Given the description of an element on the screen output the (x, y) to click on. 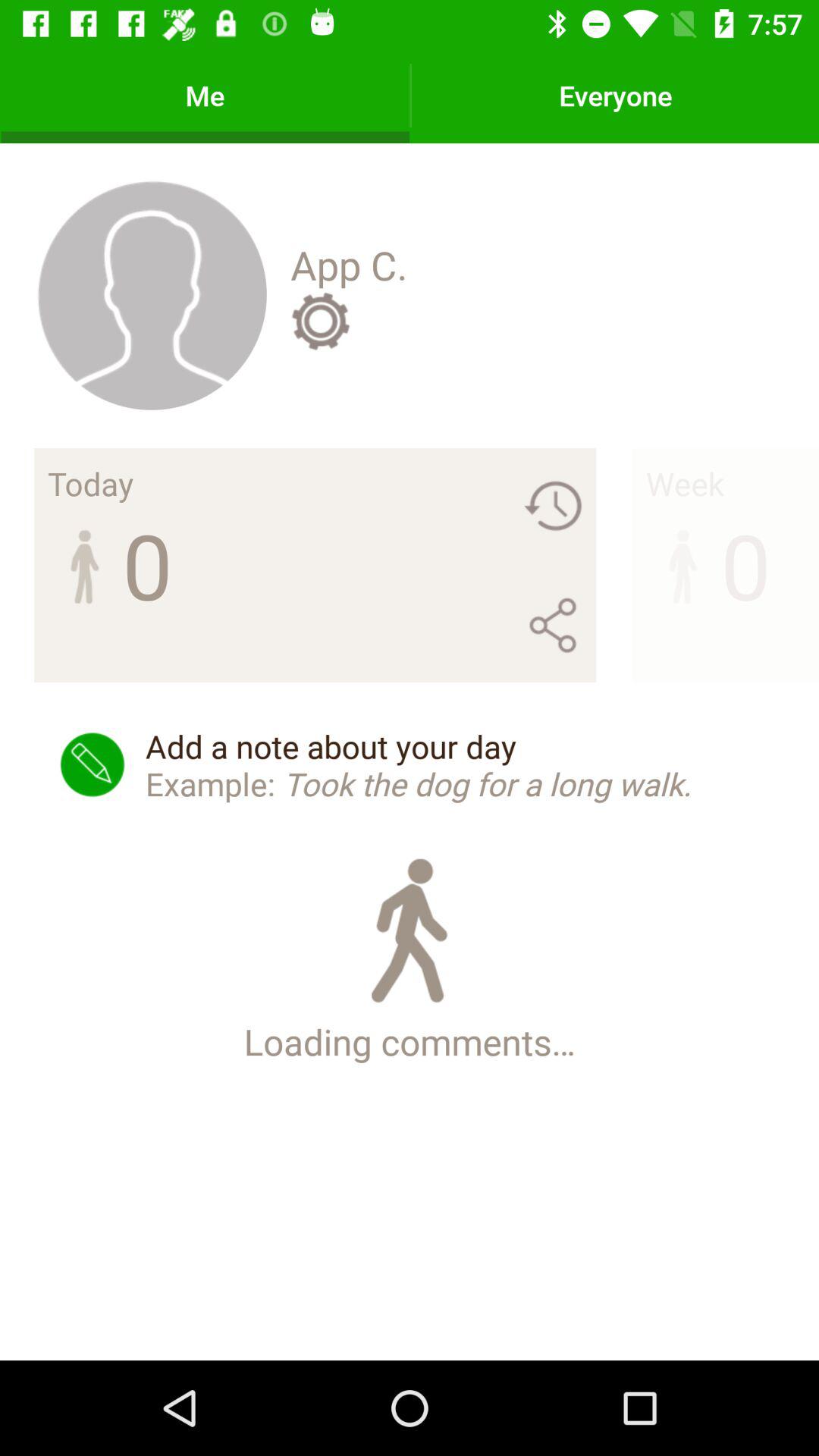
select icon below everyone icon (685, 483)
